Given the description of an element on the screen output the (x, y) to click on. 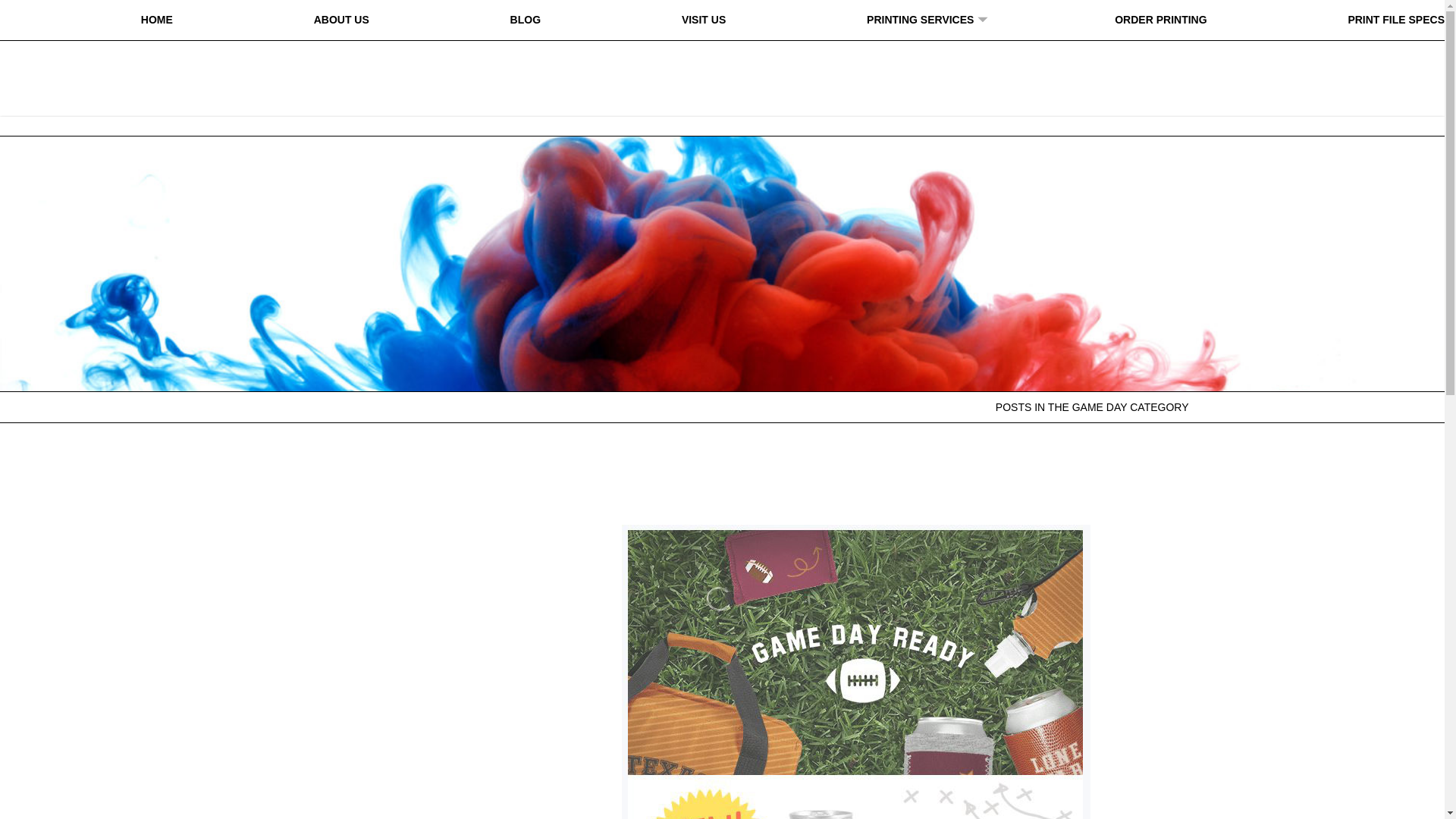
VISIT US (703, 20)
ABOUT US (341, 20)
PRINTING SERVICES (920, 20)
Global Printing Solutions (722, 68)
